Given the description of an element on the screen output the (x, y) to click on. 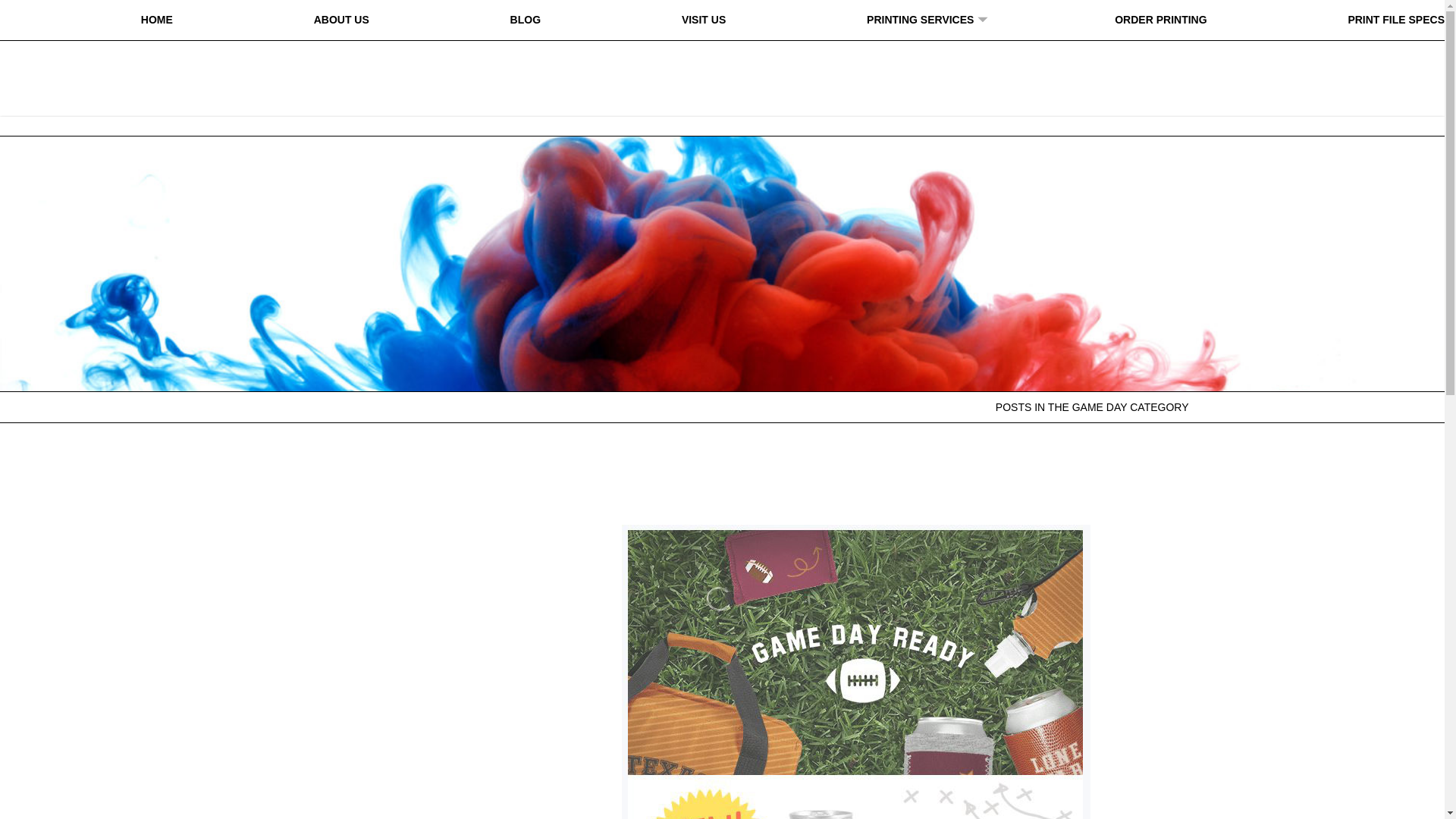
VISIT US (703, 20)
ABOUT US (341, 20)
PRINTING SERVICES (920, 20)
Global Printing Solutions (722, 68)
